Given the description of an element on the screen output the (x, y) to click on. 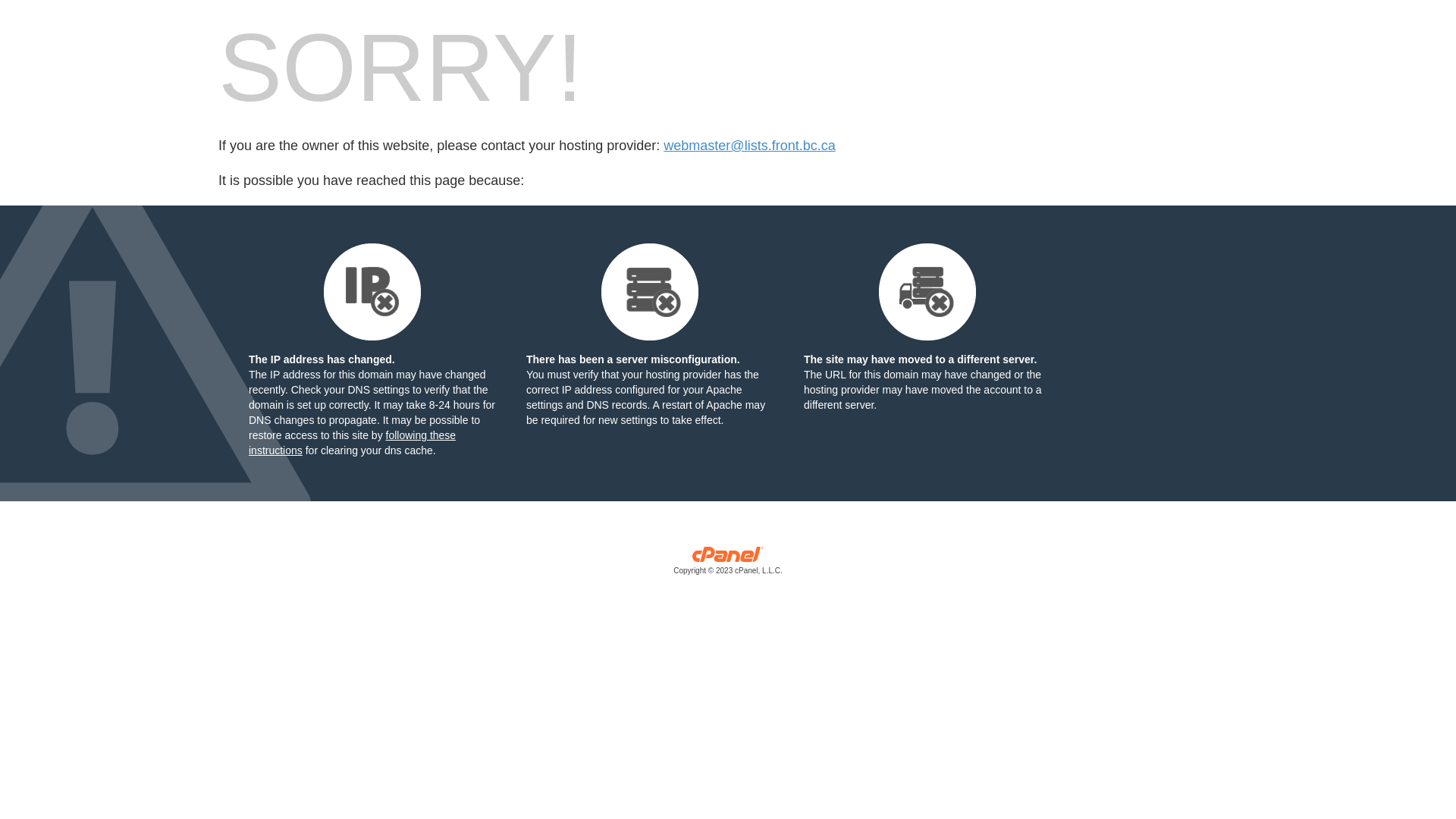
following these instructions Element type: text (351, 442)
webmaster@lists.front.bc.ca Element type: text (748, 145)
